Given the description of an element on the screen output the (x, y) to click on. 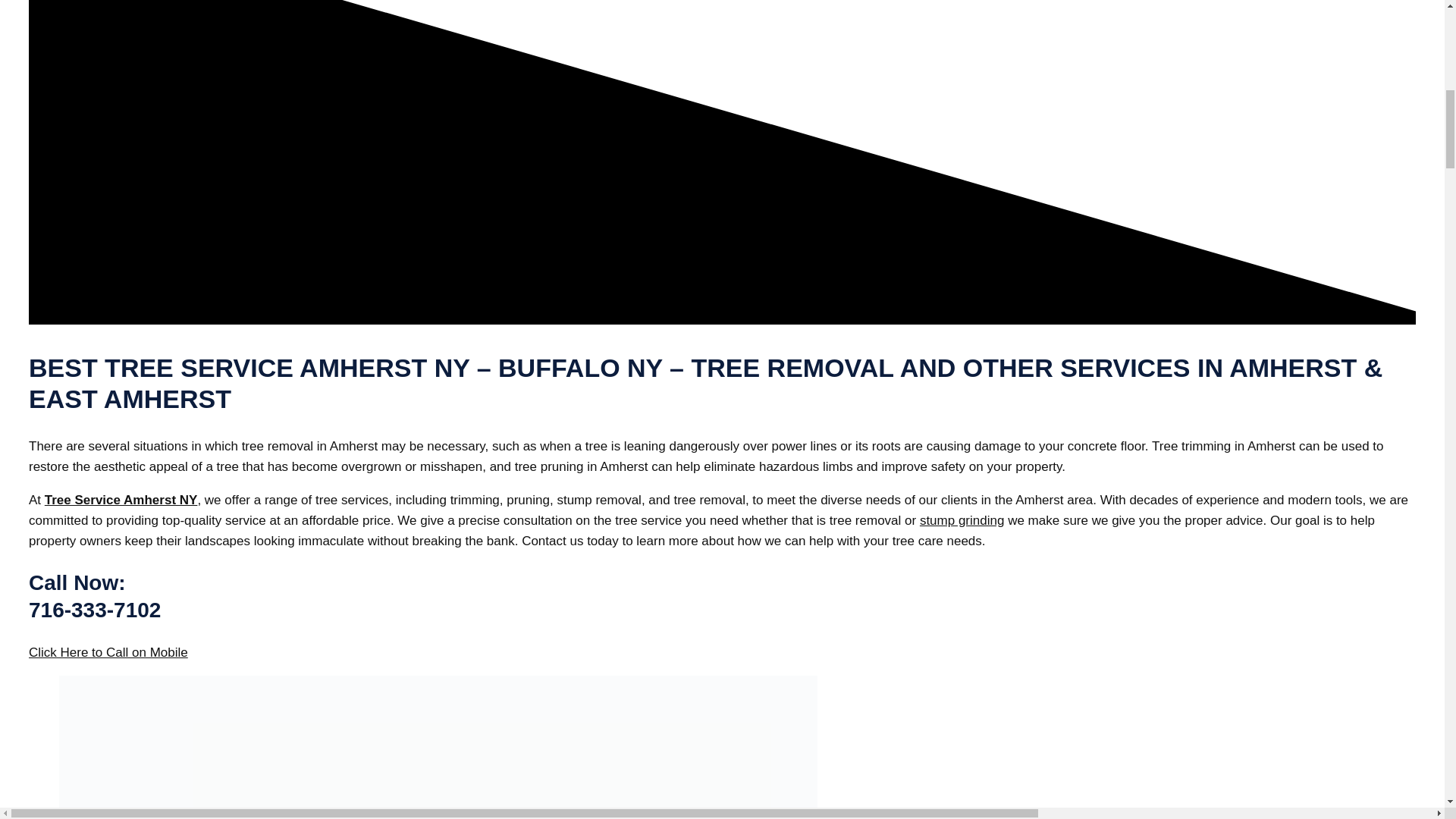
Click Here to Call on Mobile (108, 652)
Click Here to Call on Mobile (108, 652)
stump grinding (962, 520)
